Given the description of an element on the screen output the (x, y) to click on. 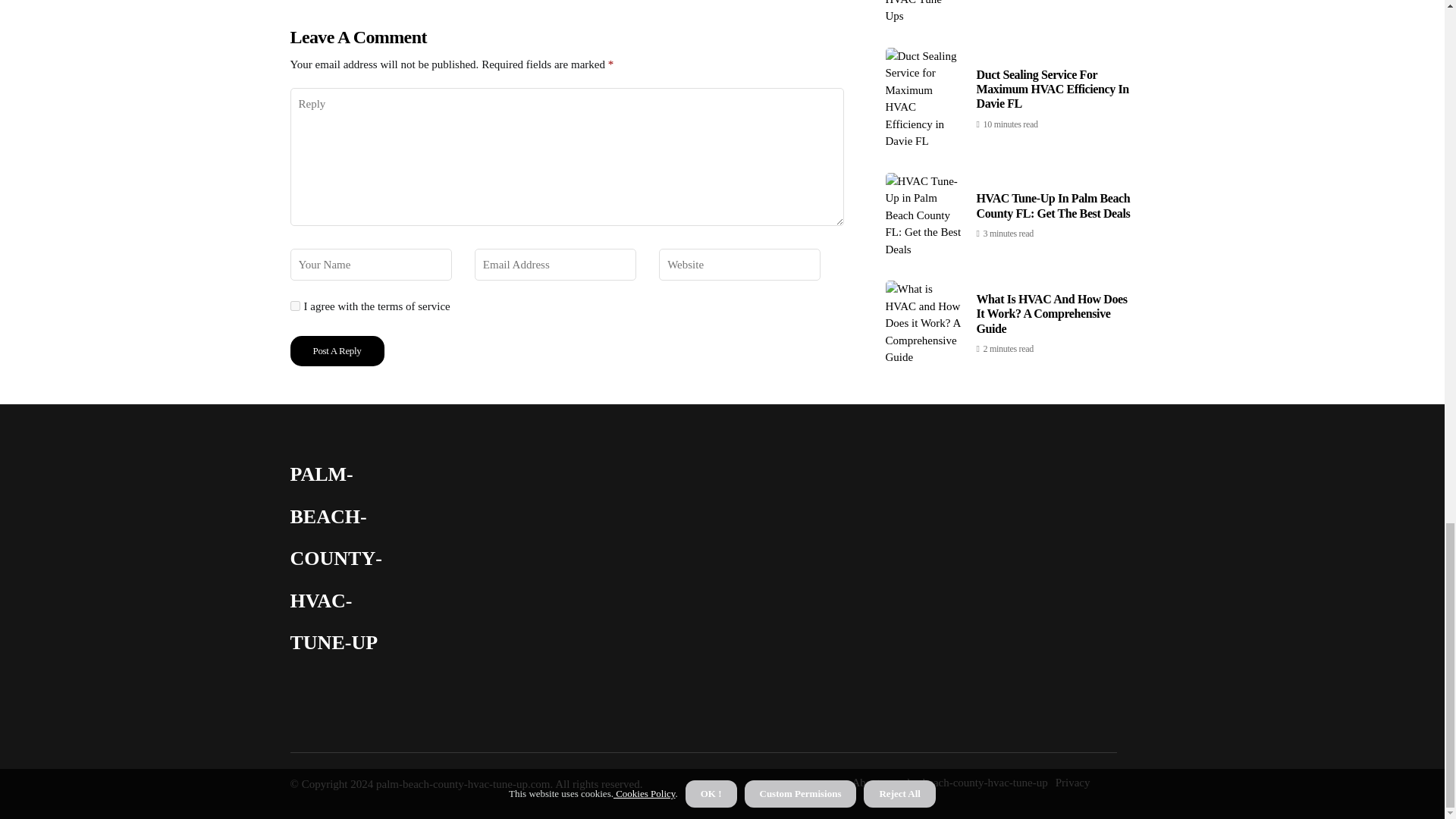
Post a Reply (336, 350)
yes (294, 306)
Post a Reply (336, 350)
